Given the description of an element on the screen output the (x, y) to click on. 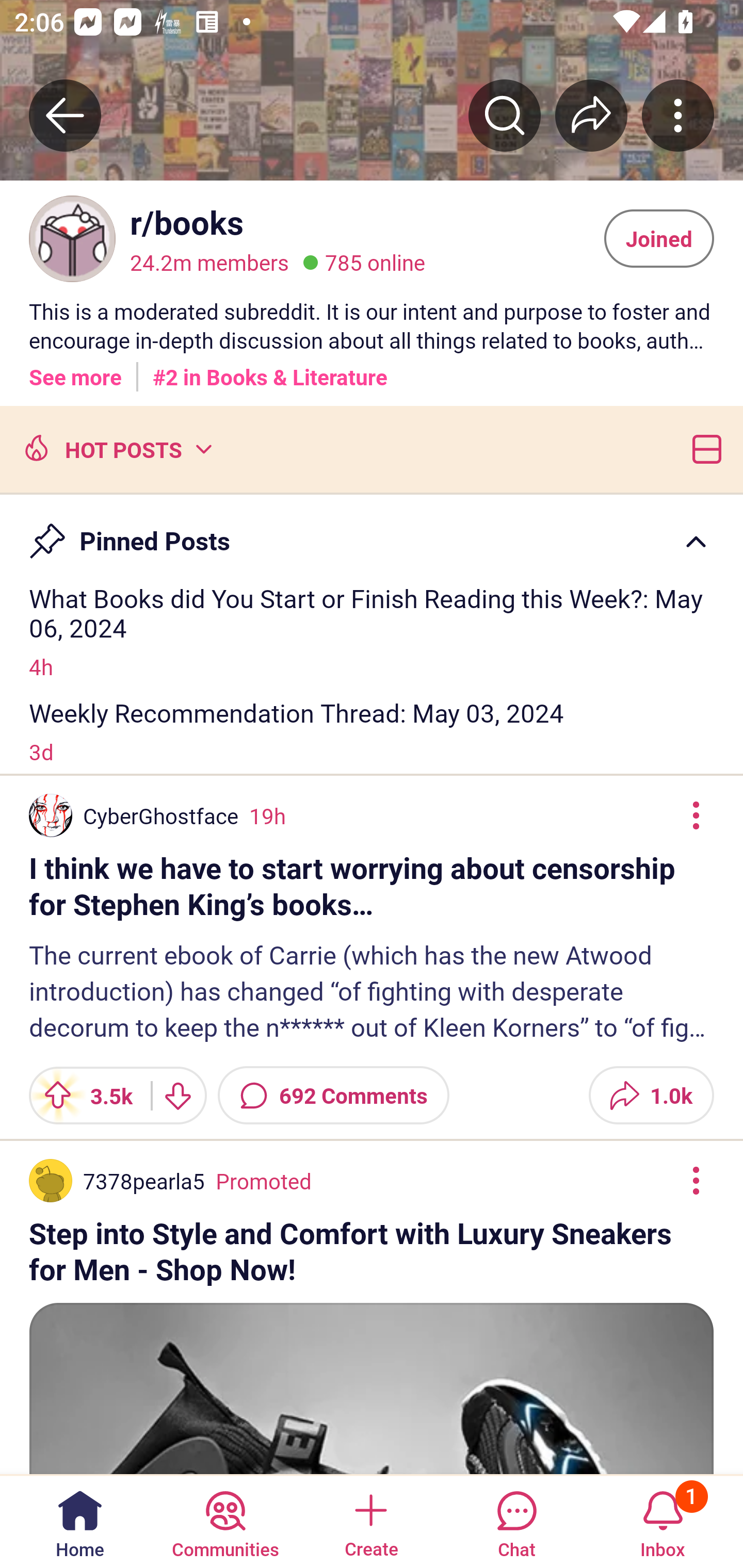
Back (64, 115)
Search r/﻿books (504, 115)
Share r/﻿books (591, 115)
More community actions (677, 115)
See more (74, 369)
#2 in Books & Literature (270, 369)
Hot posts HOT POSTS (116, 448)
Card (703, 448)
Pin Pinned Posts Caret (371, 531)
Weekly Recommendation Thread: May 03, 2024 3d (371, 731)
Home (80, 1520)
Communities (225, 1520)
Create a post Create (370, 1520)
Chat (516, 1520)
Inbox, has 1 notification 1 Inbox (662, 1520)
